Given the description of an element on the screen output the (x, y) to click on. 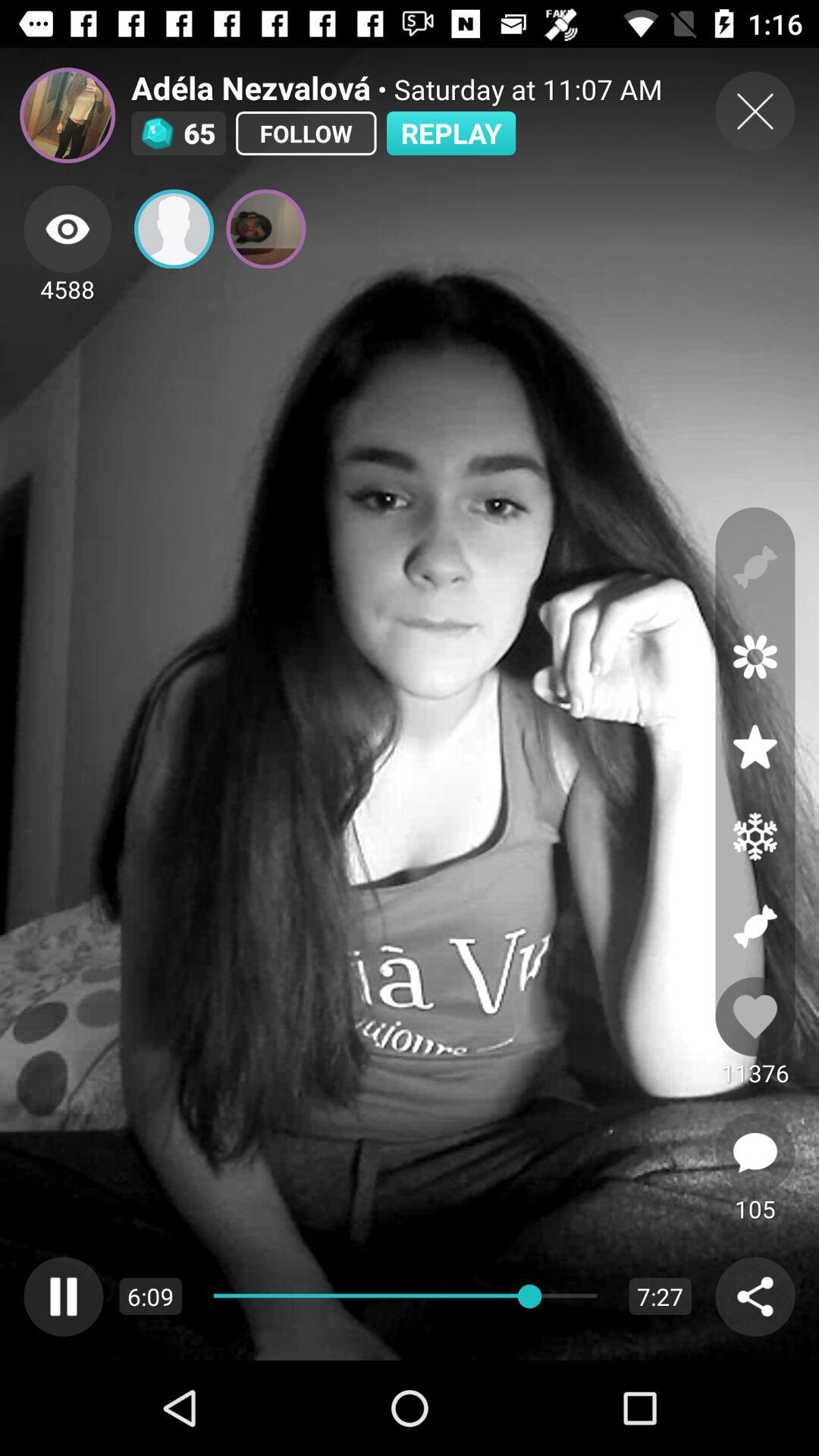
watcher count (67, 229)
